Given the description of an element on the screen output the (x, y) to click on. 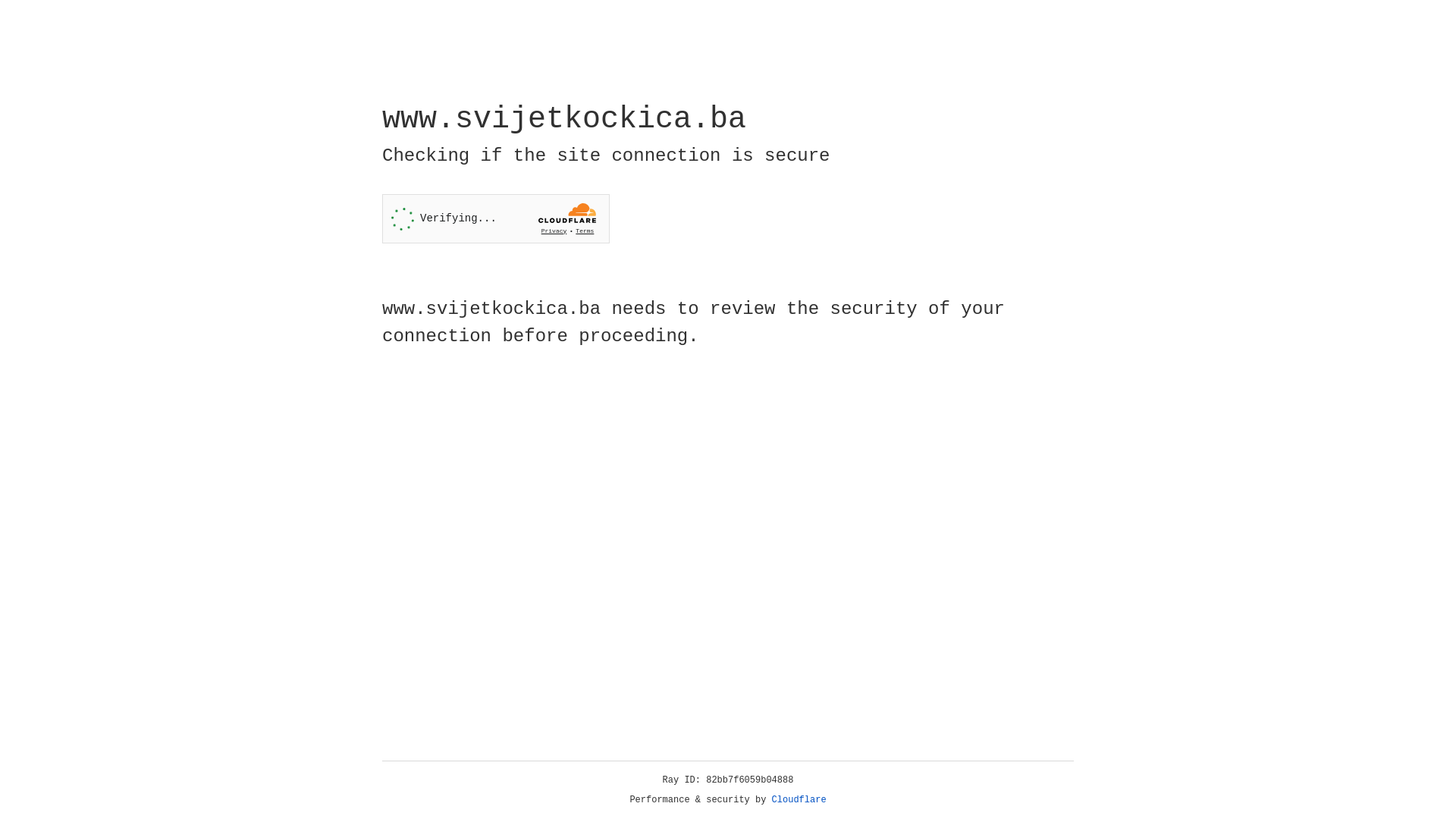
Widget containing a Cloudflare security challenge Element type: hover (495, 218)
Cloudflare Element type: text (798, 799)
